Given the description of an element on the screen output the (x, y) to click on. 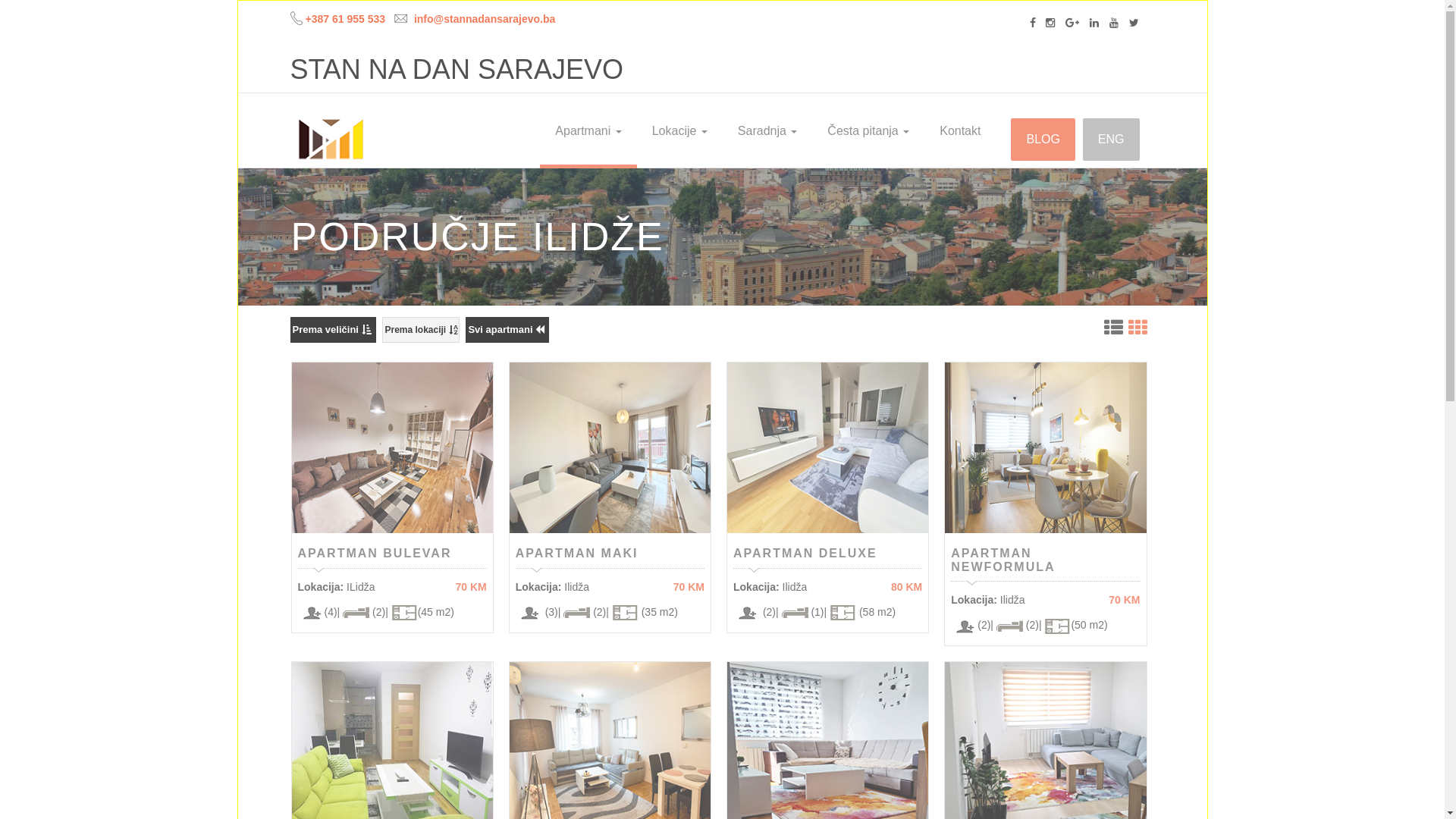
APARTMAN MAKI Element type: text (576, 552)
APARTMAN DELUXE Element type: text (805, 552)
Lokacije Element type: text (679, 131)
info@stannadansarajevo.ba Element type: text (484, 18)
Prema lokaciji Element type: text (420, 329)
APARTMAN BULEVAR Element type: text (374, 552)
Saradnja Element type: text (767, 131)
APARTMAN NEWFORMULA Element type: text (1002, 559)
BLOG Element type: text (1042, 139)
Svi apartmani Element type: text (507, 329)
Apartmani Element type: text (587, 131)
ENG Element type: text (1110, 139)
Kontakt Element type: text (959, 131)
+387 61 955 533 Element type: text (344, 18)
